Given the description of an element on the screen output the (x, y) to click on. 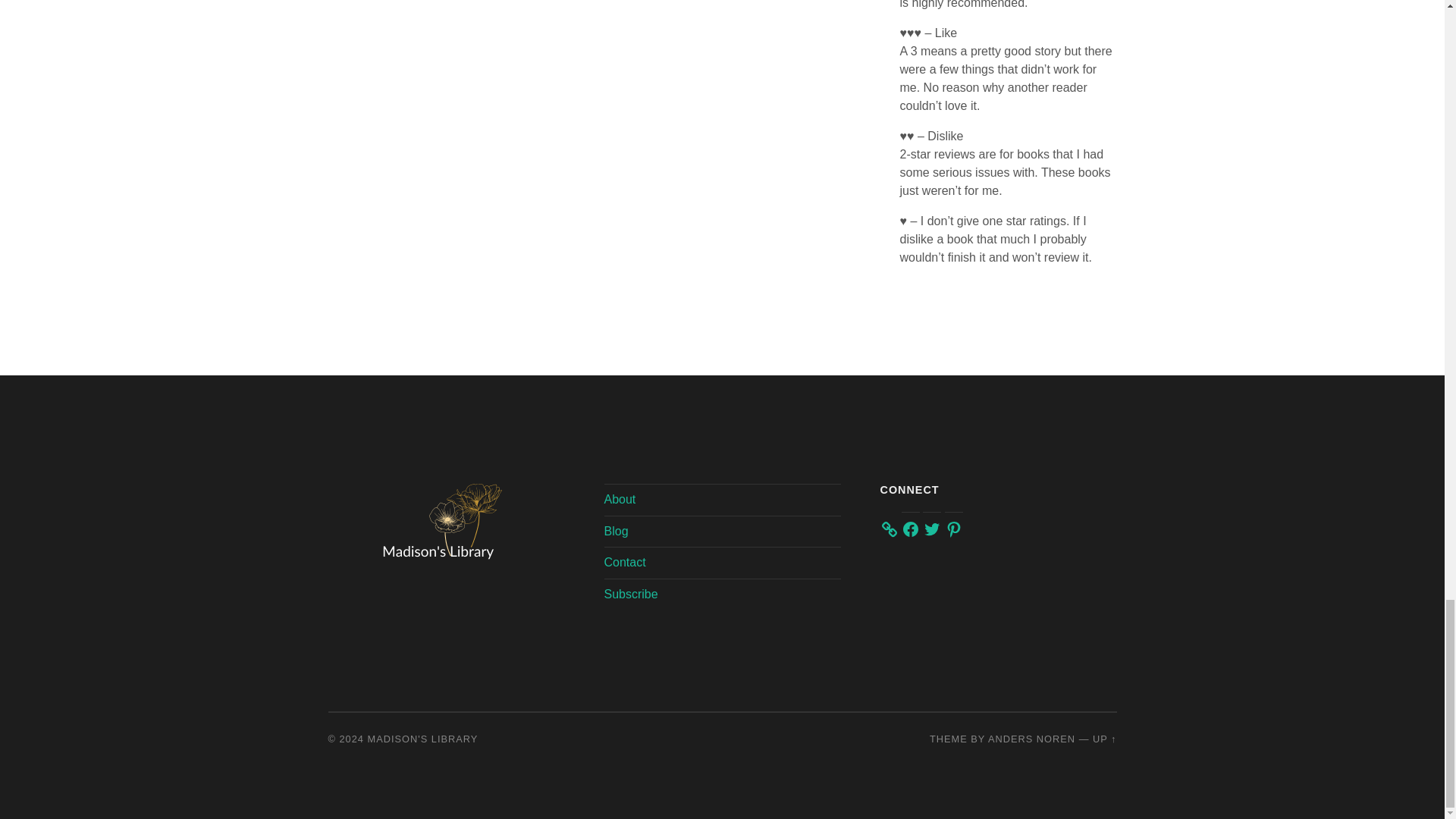
To the top (1104, 738)
